Given the description of an element on the screen output the (x, y) to click on. 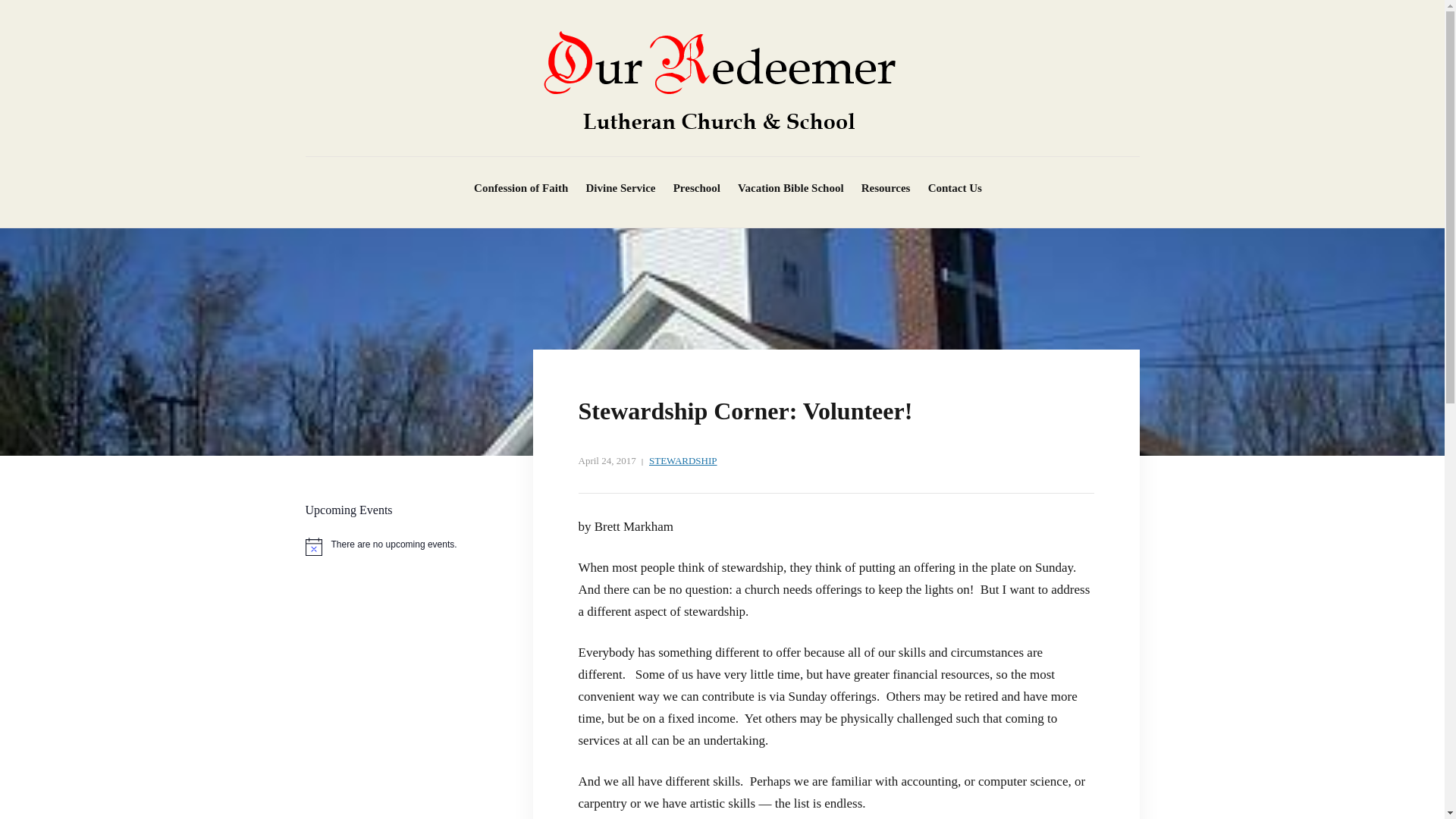
Preschool (696, 187)
Resources (886, 187)
Divine Service (619, 187)
STEWARDSHIP (683, 460)
Vacation Bible School (790, 187)
Contact Us (955, 187)
Confession of Faith (520, 187)
